Given the description of an element on the screen output the (x, y) to click on. 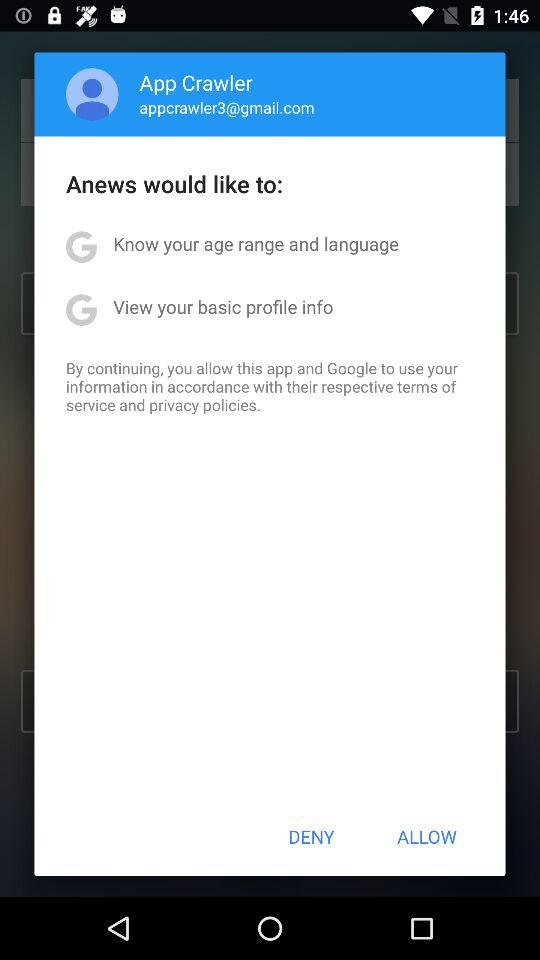
choose the app below know your age item (223, 306)
